Given the description of an element on the screen output the (x, y) to click on. 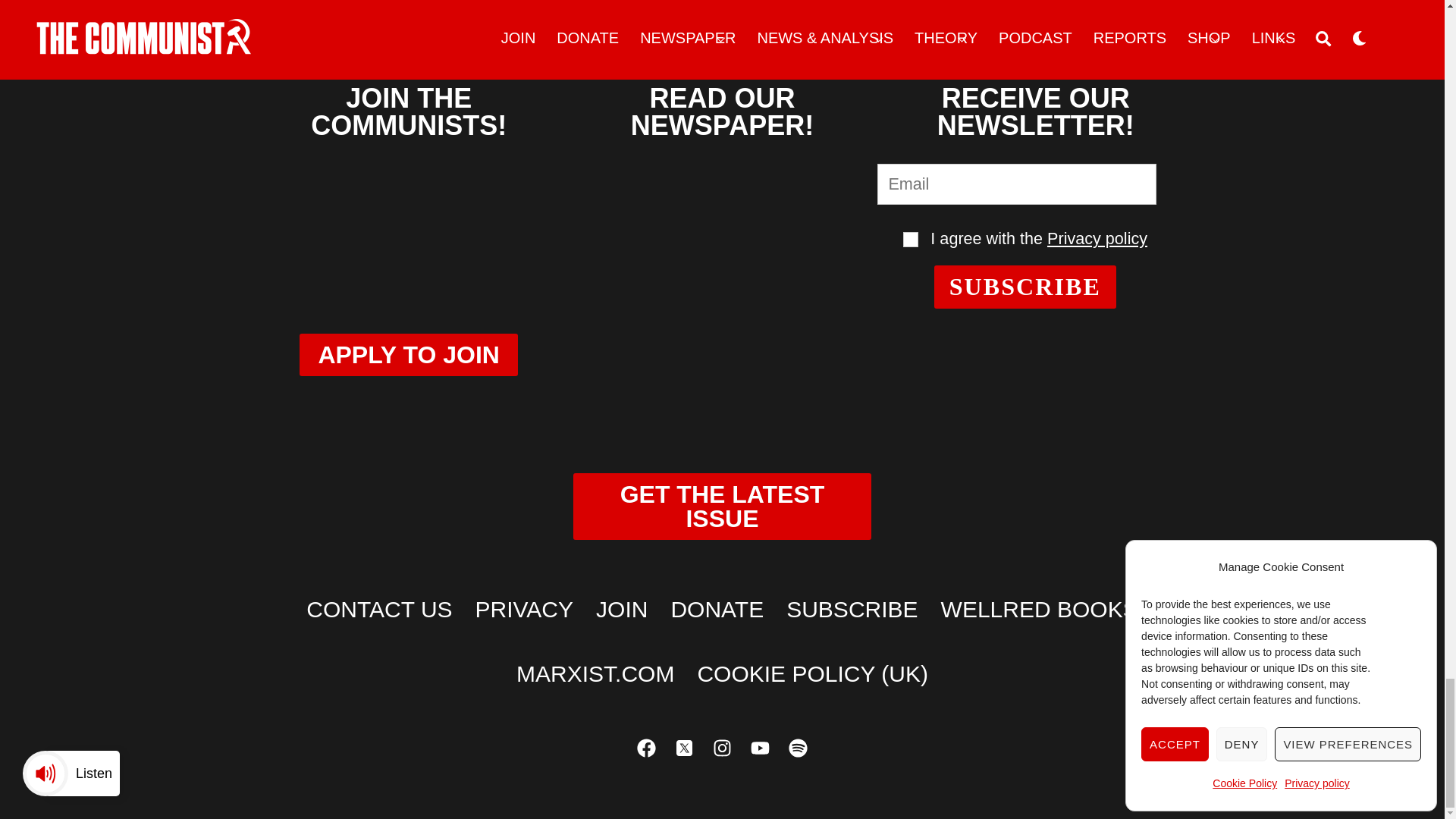
Privacy policy (1096, 238)
on (910, 239)
Terms and conditions (910, 239)
